Given the description of an element on the screen output the (x, y) to click on. 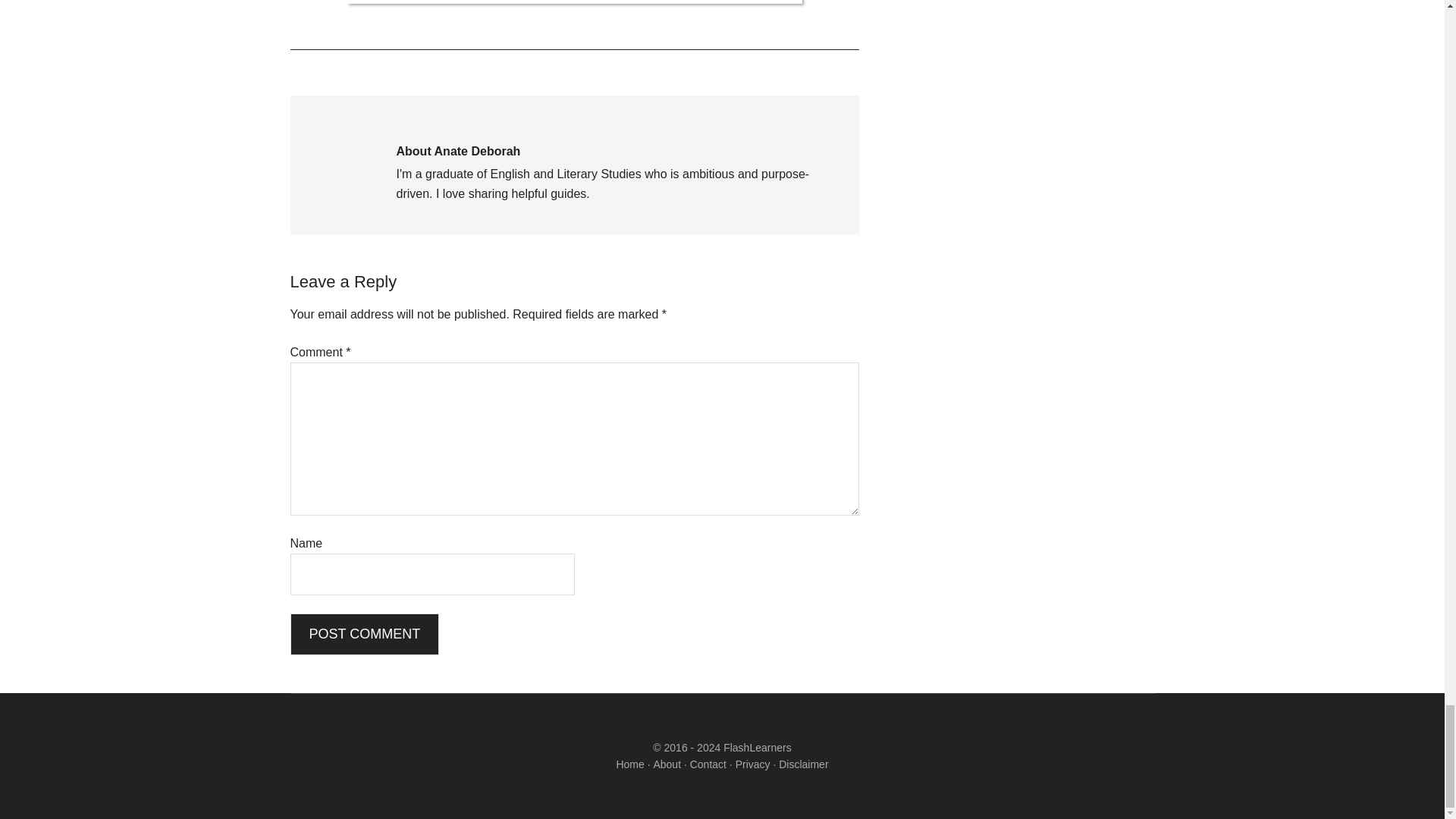
Disclaimer (803, 764)
About (666, 764)
Privacy (752, 764)
Post Comment (364, 634)
Post Comment (364, 634)
Contact (708, 764)
Home (629, 764)
